Given the description of an element on the screen output the (x, y) to click on. 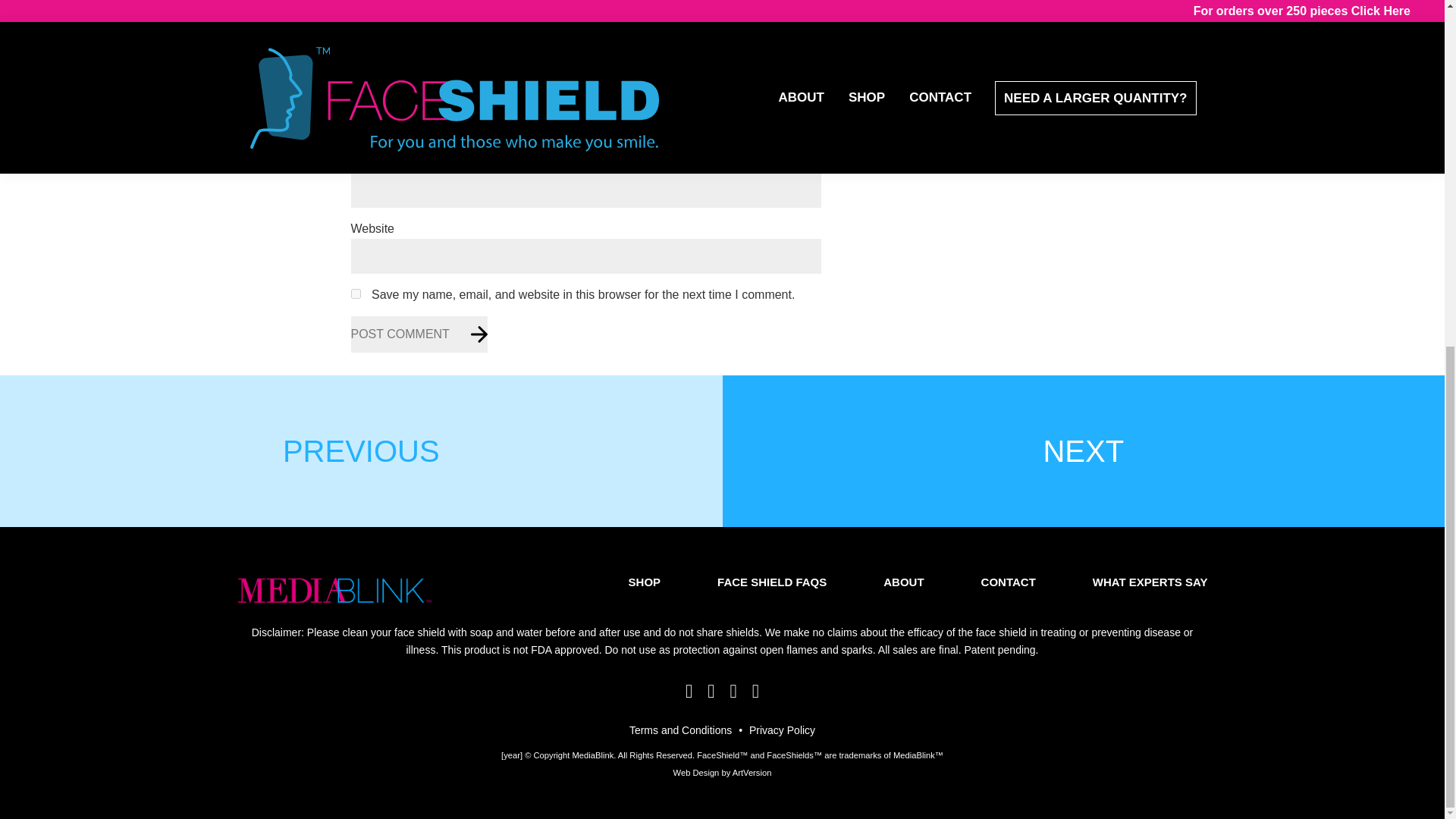
Privacy Policy (782, 730)
FaceShields (794, 756)
yes (354, 293)
Web Design Company (721, 773)
Post Comment (418, 334)
Terms and Conditions (680, 730)
ABOUT (903, 582)
SHOP (644, 582)
PREVIOUS (361, 451)
WHAT EXPERTS SAY (1150, 582)
